Given the description of an element on the screen output the (x, y) to click on. 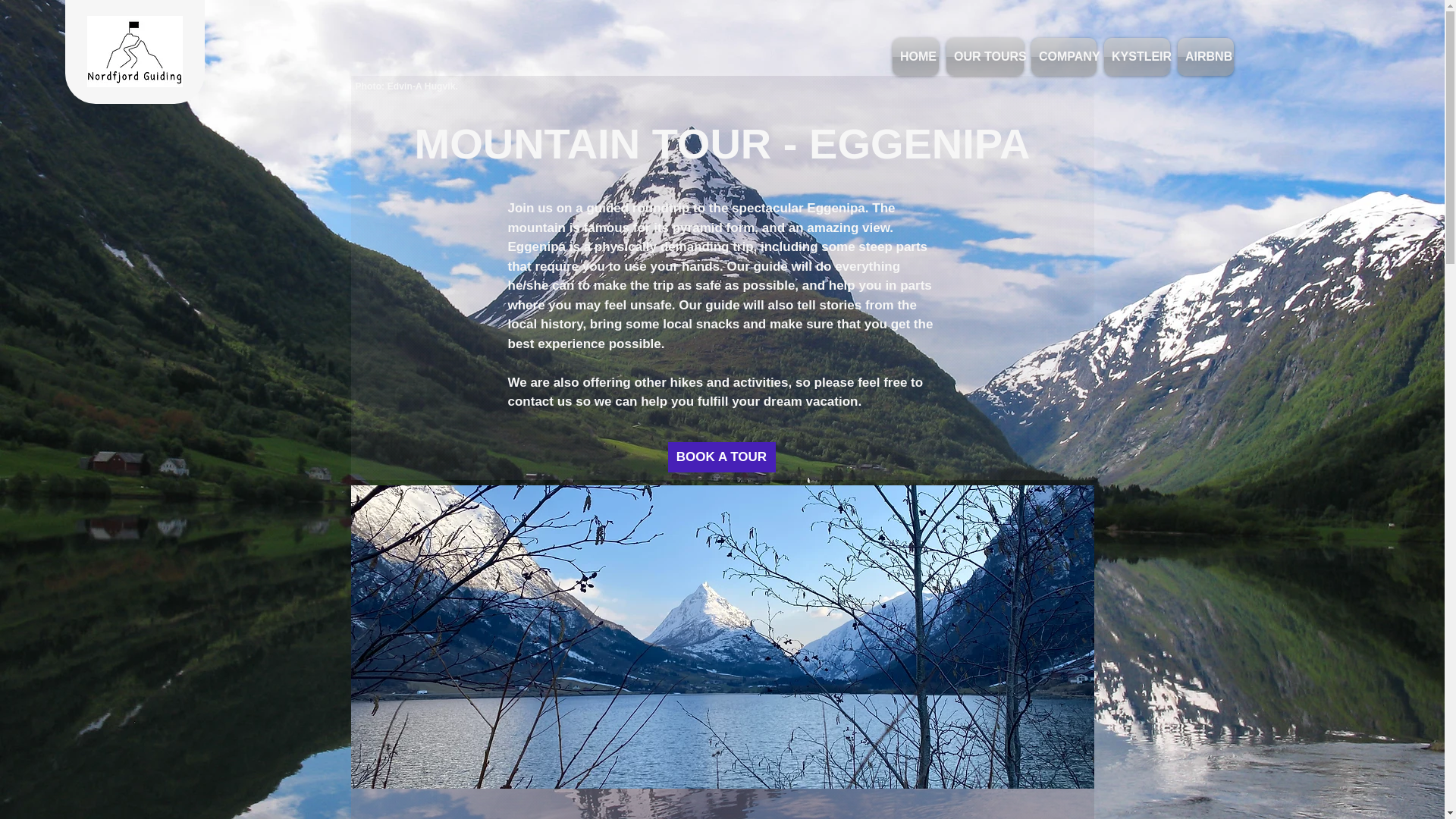
KYSTLEIR (1136, 56)
BOOK A TOUR (720, 456)
HOME (917, 56)
AIRBNB (1205, 56)
